Given the description of an element on the screen output the (x, y) to click on. 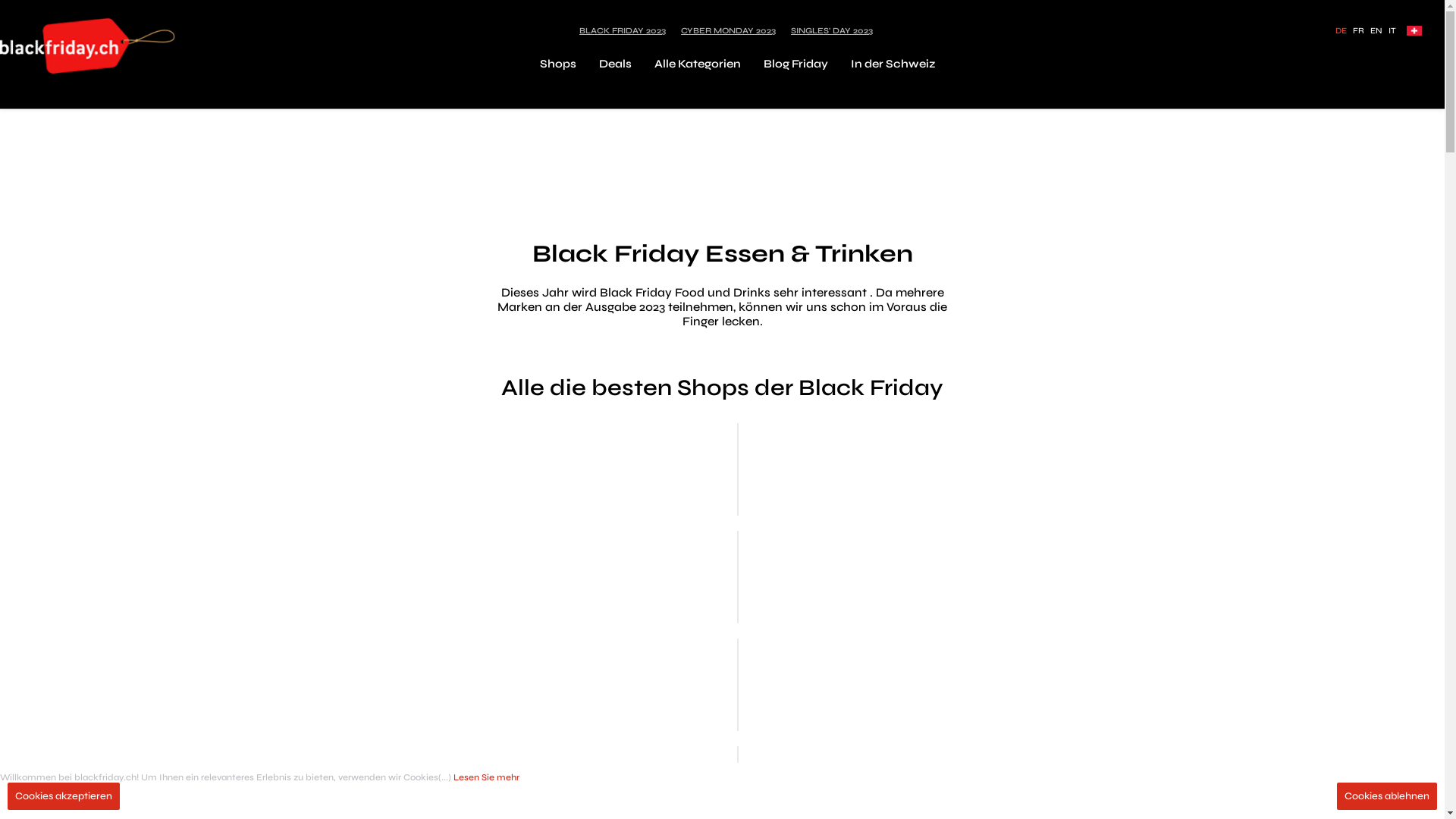
DE Element type: text (1340, 30)
SINGLES' DAY 2023 Element type: text (831, 30)
Cookies akzeptieren Element type: text (63, 795)
Alle Kategorien Element type: text (696, 63)
BlackFriday Element type: hover (87, 45)
Shops Element type: text (557, 63)
Blog Friday Element type: text (794, 63)
In der Schweiz Element type: text (892, 63)
Deals Element type: text (615, 63)
IT Element type: text (1392, 30)
EN Element type: text (1376, 30)
BLACK FRIDAY 2023 Element type: text (622, 30)
Cookies ablehnen Element type: text (1386, 795)
FR Element type: text (1358, 30)
CYBER MONDAY 2023 Element type: text (728, 30)
